Given the description of an element on the screen output the (x, y) to click on. 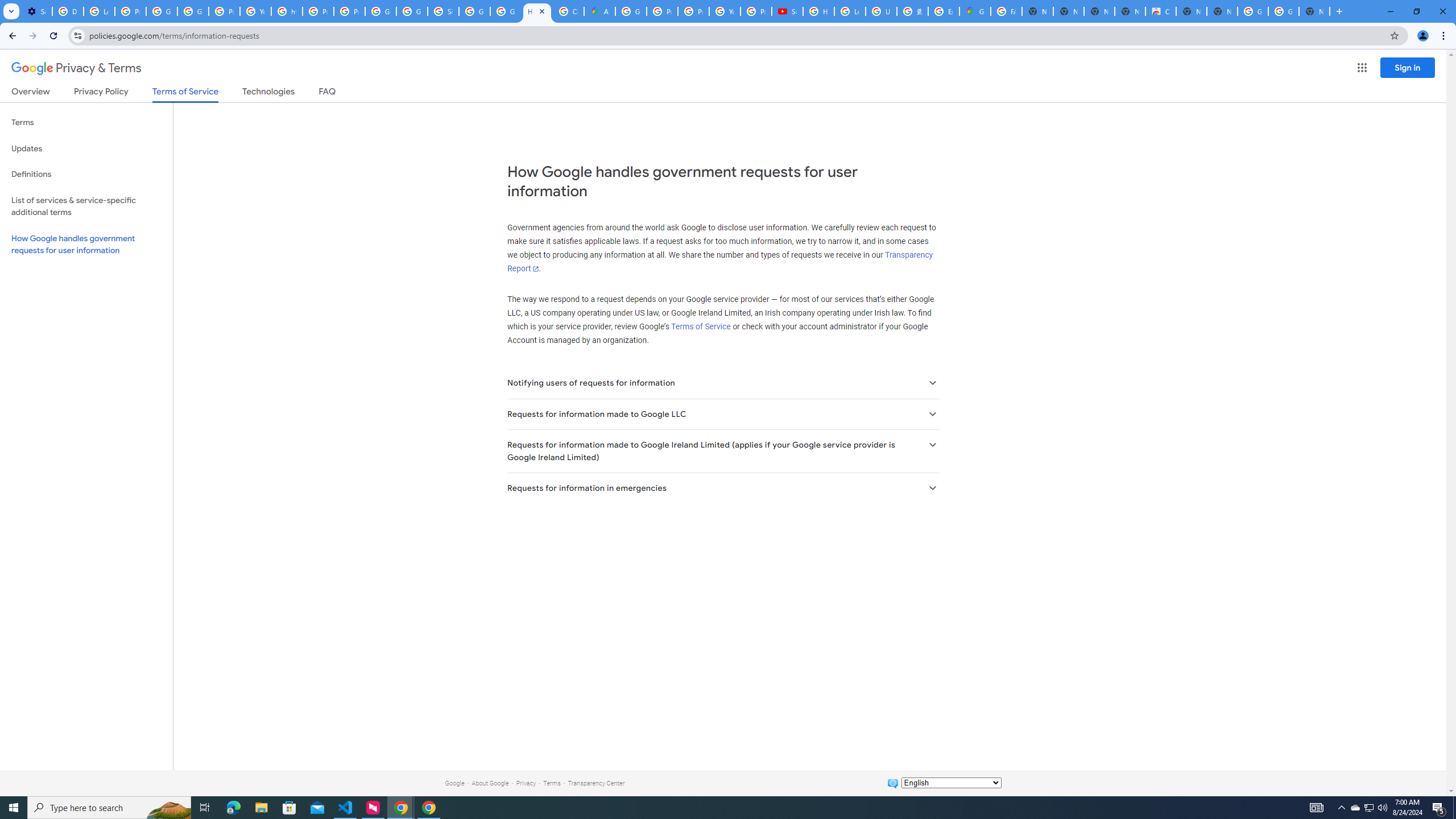
About Google (490, 783)
List of services & service-specific additional terms (86, 206)
Transparency Center (595, 783)
Definitions (86, 174)
Privacy Help Center - Policies Help (662, 11)
Notifying users of requests for information (722, 382)
Create your Google Account (568, 11)
Delete photos & videos - Computer - Google Photos Help (67, 11)
